Given the description of an element on the screen output the (x, y) to click on. 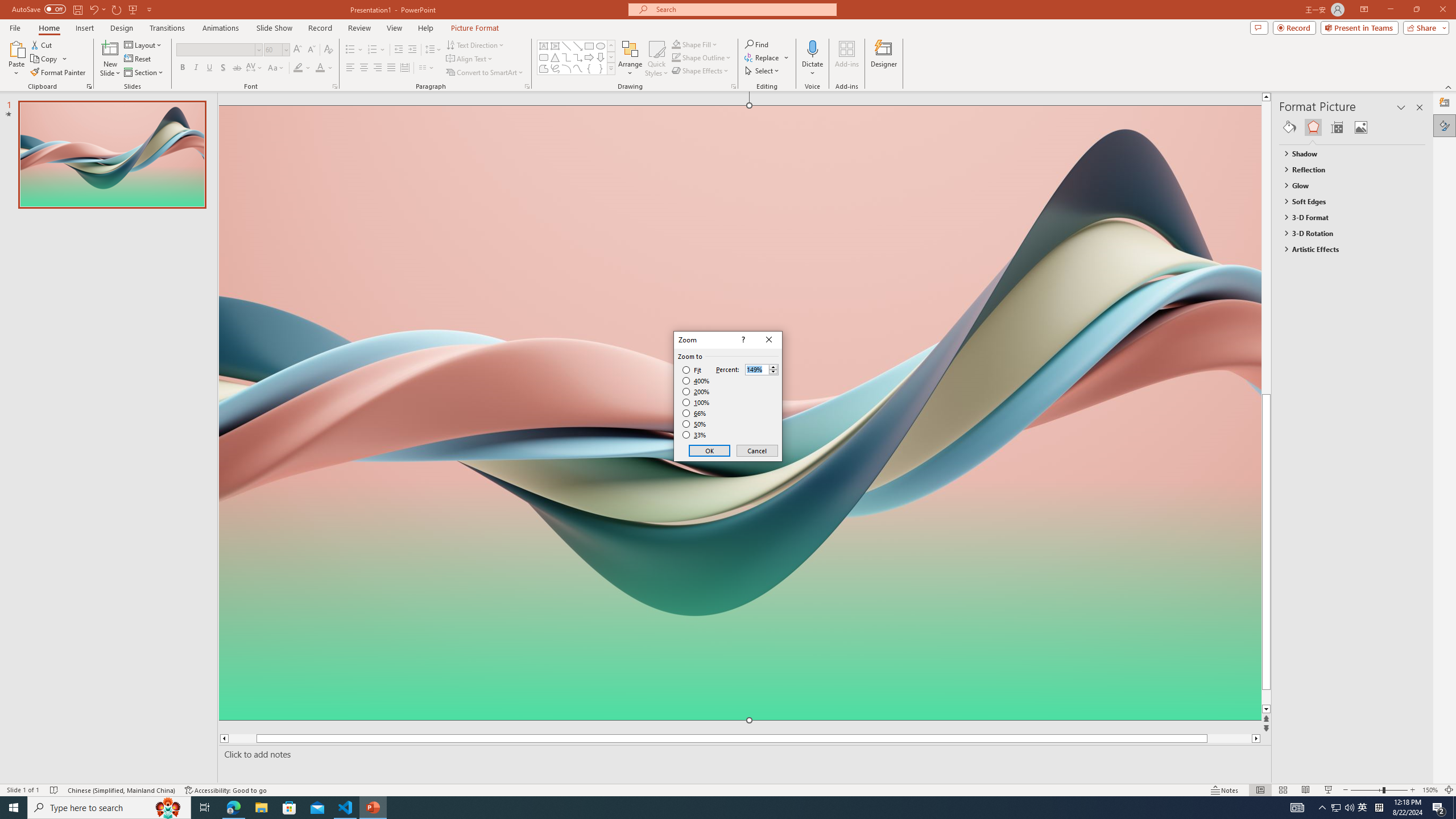
Microsoft Edge - 1 running window (233, 807)
Justify (390, 67)
Font... (334, 85)
Columns (426, 67)
Reset (138, 58)
Format Object... (733, 85)
Strikethrough (237, 67)
Decrease Font Size (310, 49)
